Given the description of an element on the screen output the (x, y) to click on. 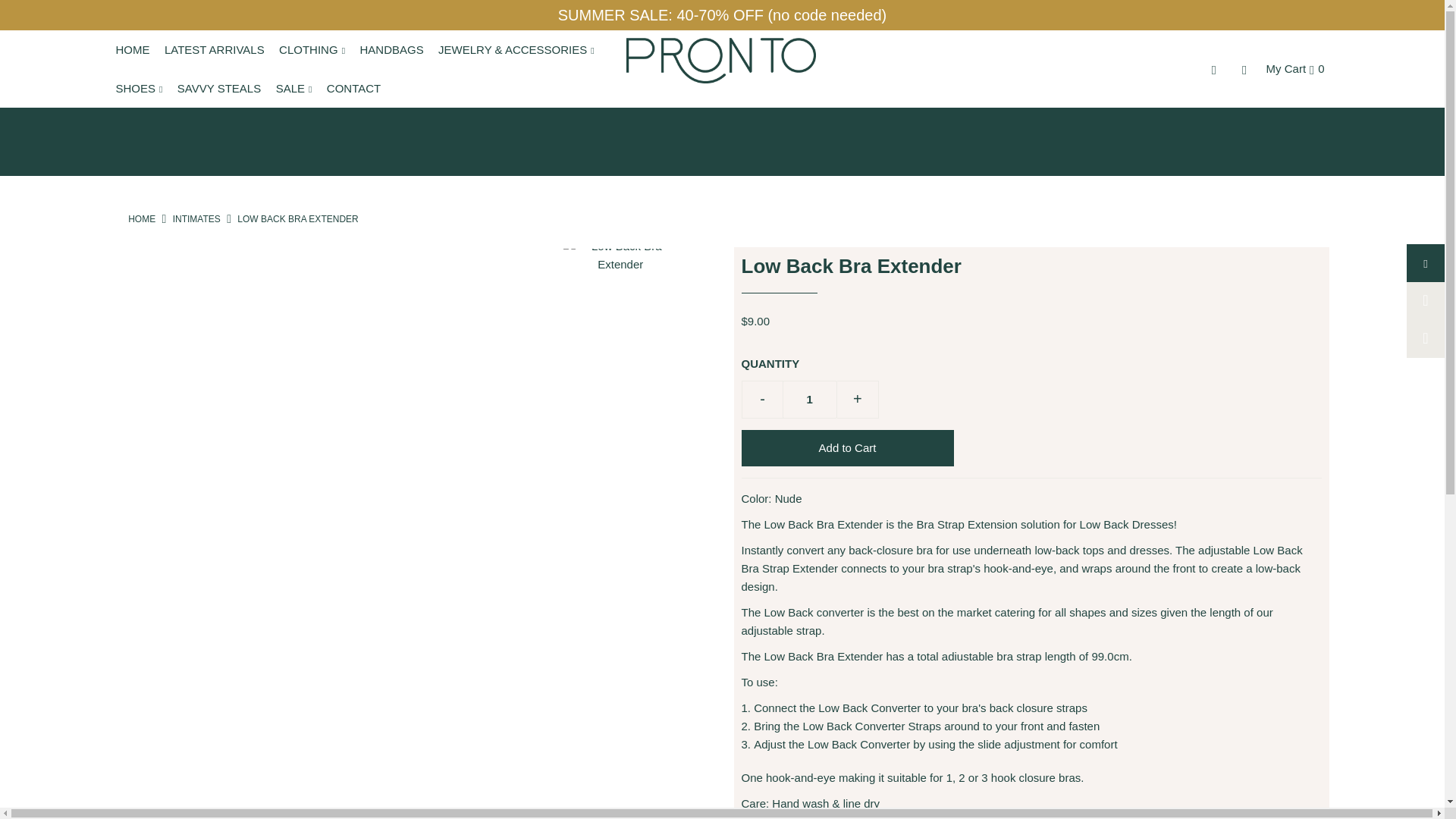
Add to Cart (847, 447)
1 (810, 399)
Home (141, 218)
